Given the description of an element on the screen output the (x, y) to click on. 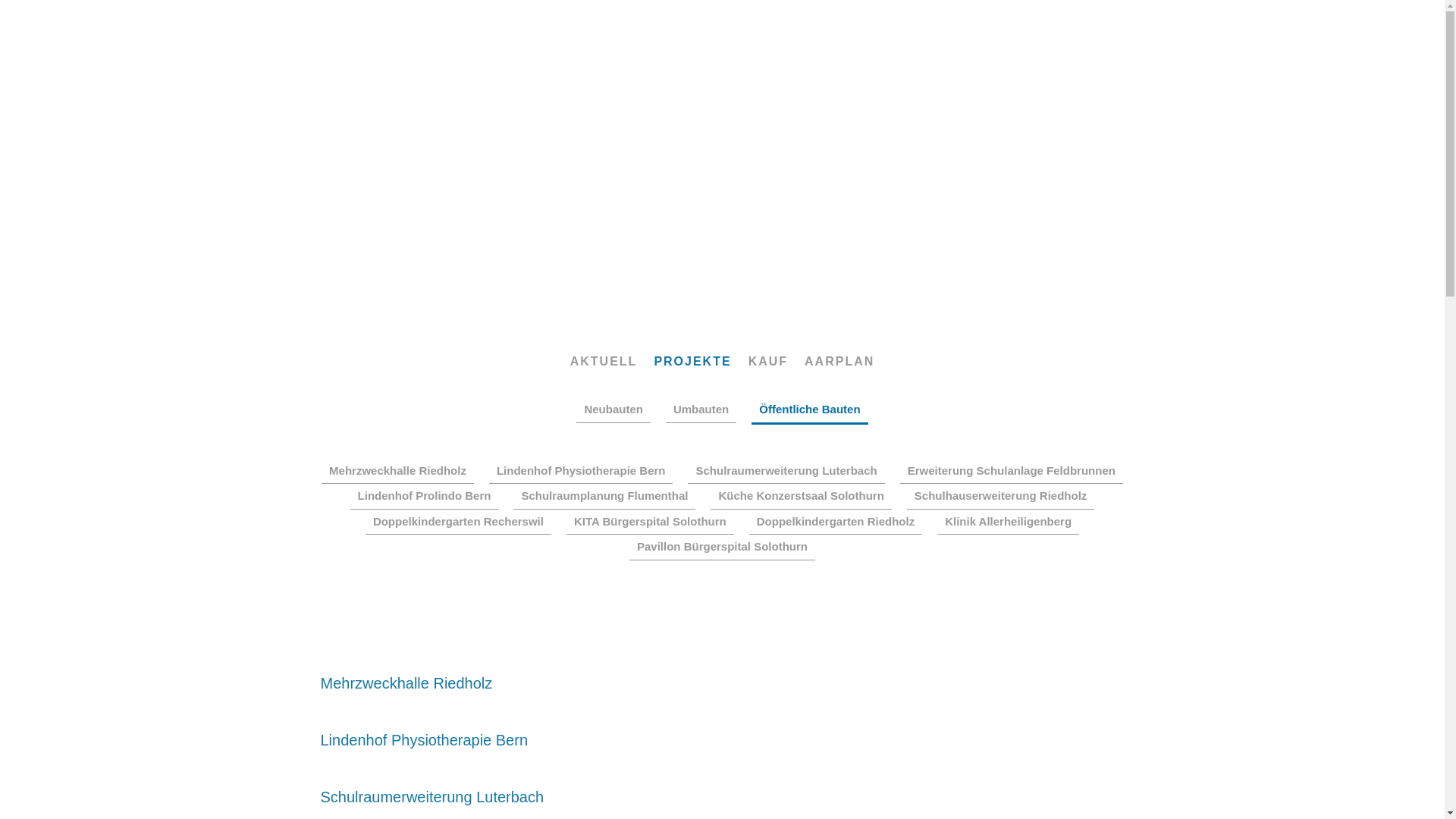
Schulraumplanung Flumenthal Element type: text (604, 496)
PROJEKTE Element type: text (692, 361)
Lindenhof Physiotherapie Bern Element type: text (581, 470)
AKTUELL Element type: text (603, 361)
Schulhauserweiterung Riedholz Element type: text (1000, 496)
Doppelkindergarten Riedholz Element type: text (835, 522)
Lindenhof Prolindo Bern Element type: text (424, 496)
Umbauten Element type: text (700, 410)
Neubauten Element type: text (613, 410)
KAUF Element type: text (768, 361)
AARPLAN Element type: text (839, 361)
Doppelkindergarten Recherswil Element type: text (458, 522)
Klinik Allerheiligenberg Element type: text (1008, 522)
Erweiterung Schulanlage Feldbrunnen Element type: text (1011, 470)
Schulraumerweiterung Luterbach Element type: text (785, 470)
Mehrzweckhalle Riedholz Element type: text (397, 470)
